Given the description of an element on the screen output the (x, y) to click on. 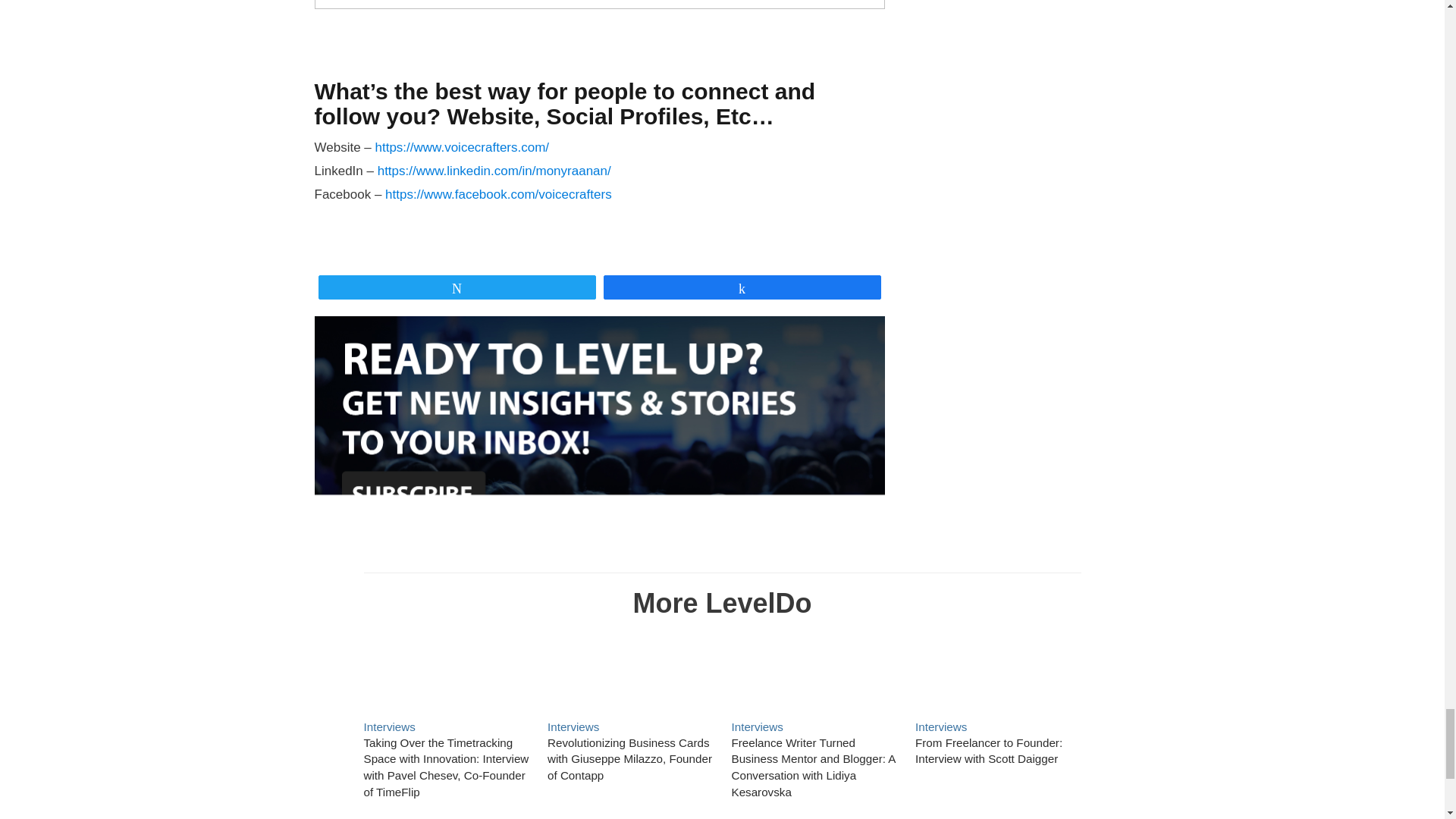
Read More (812, 767)
Read More in Interviews (572, 726)
Read More (630, 670)
Read More (629, 759)
Read More (998, 670)
Read More in Interviews (389, 726)
Read More in Interviews (940, 726)
Read More (813, 670)
